Given the description of an element on the screen output the (x, y) to click on. 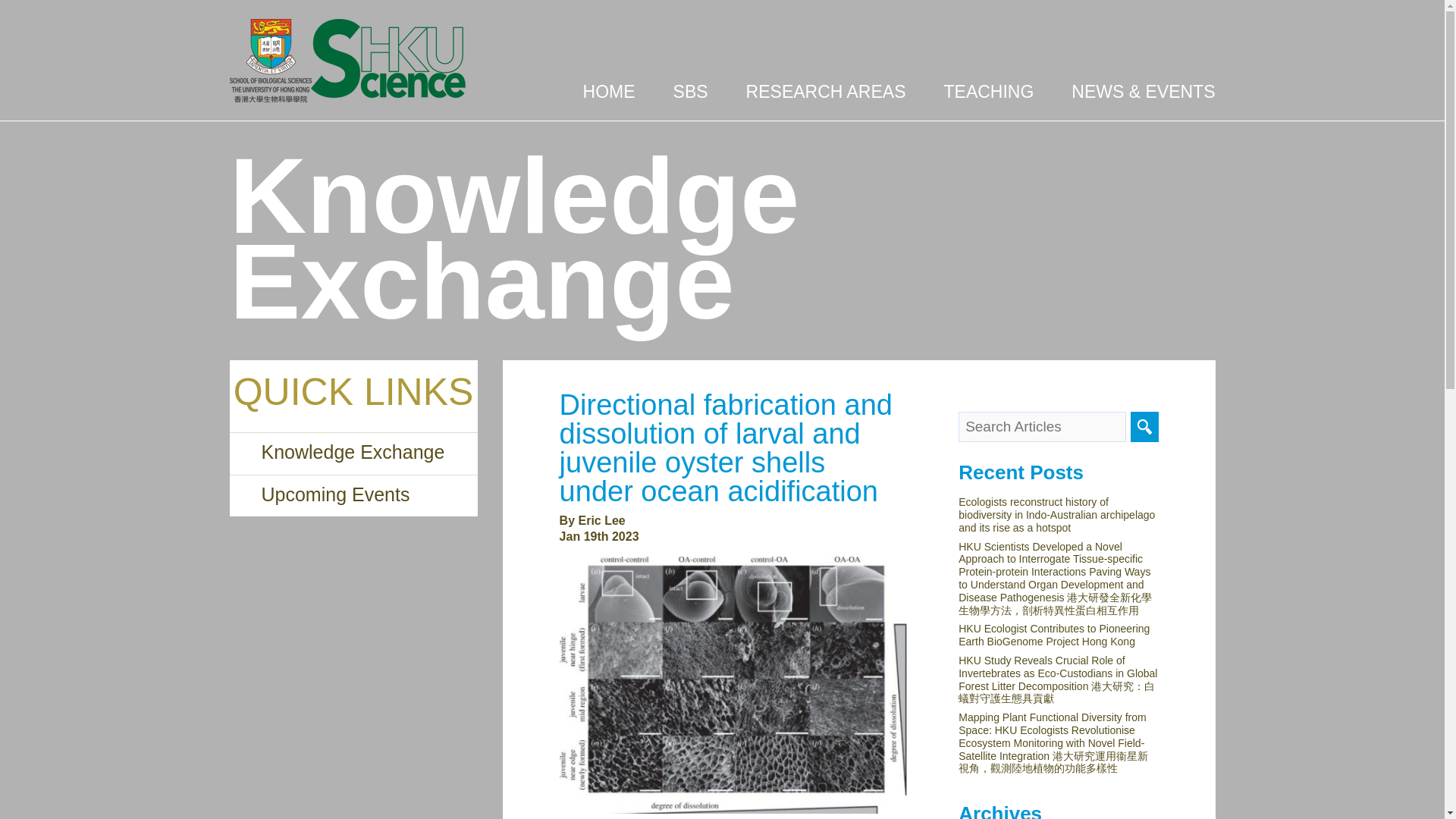
RESEARCH AREAS (825, 97)
Search (1144, 426)
SBS (689, 97)
Search (1144, 426)
School of Biological Sciences - The University of Hong Kong (346, 60)
HOME (608, 97)
TEACHING (988, 97)
